Given the description of an element on the screen output the (x, y) to click on. 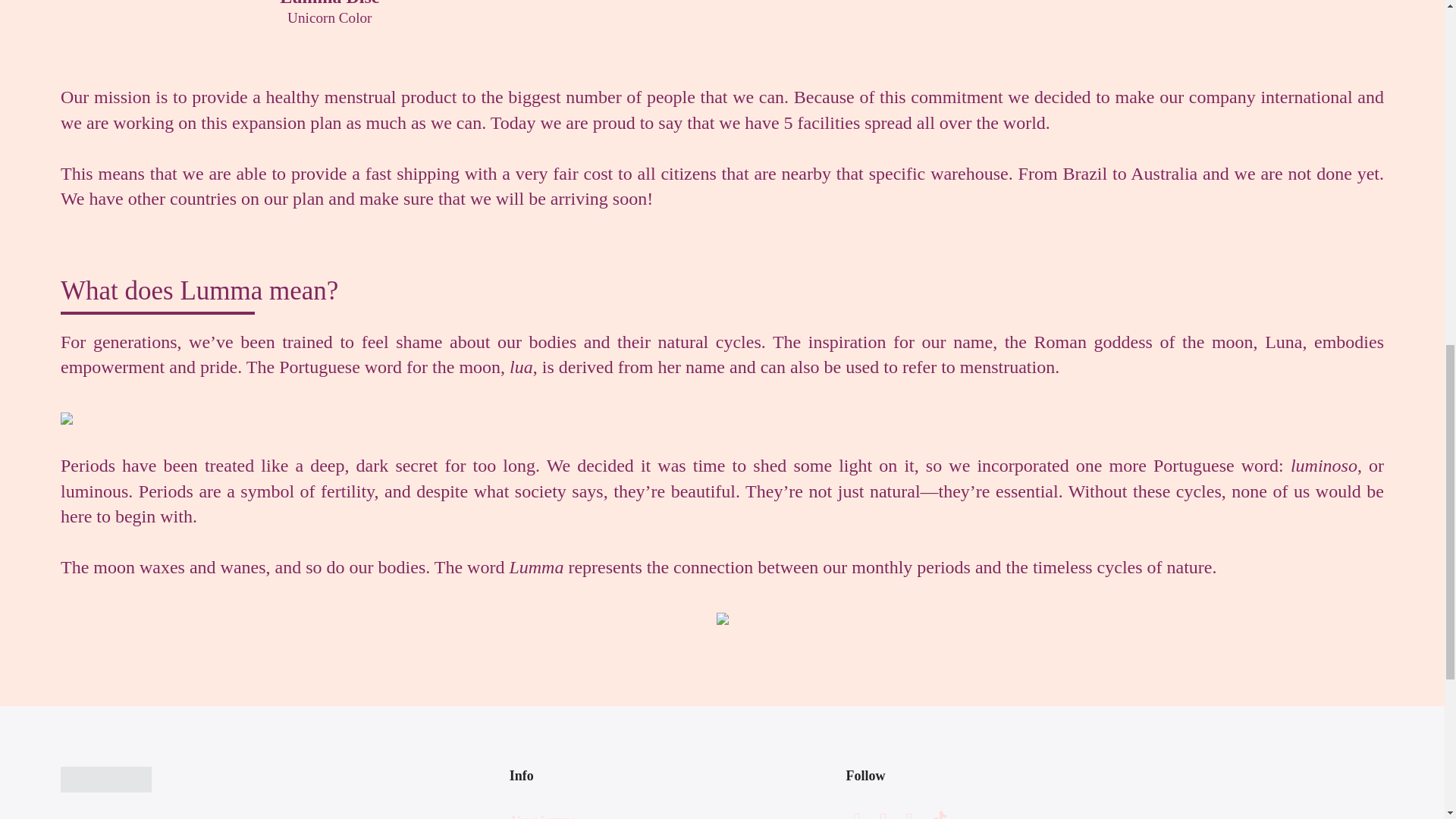
About Lumma (542, 816)
